Given the description of an element on the screen output the (x, y) to click on. 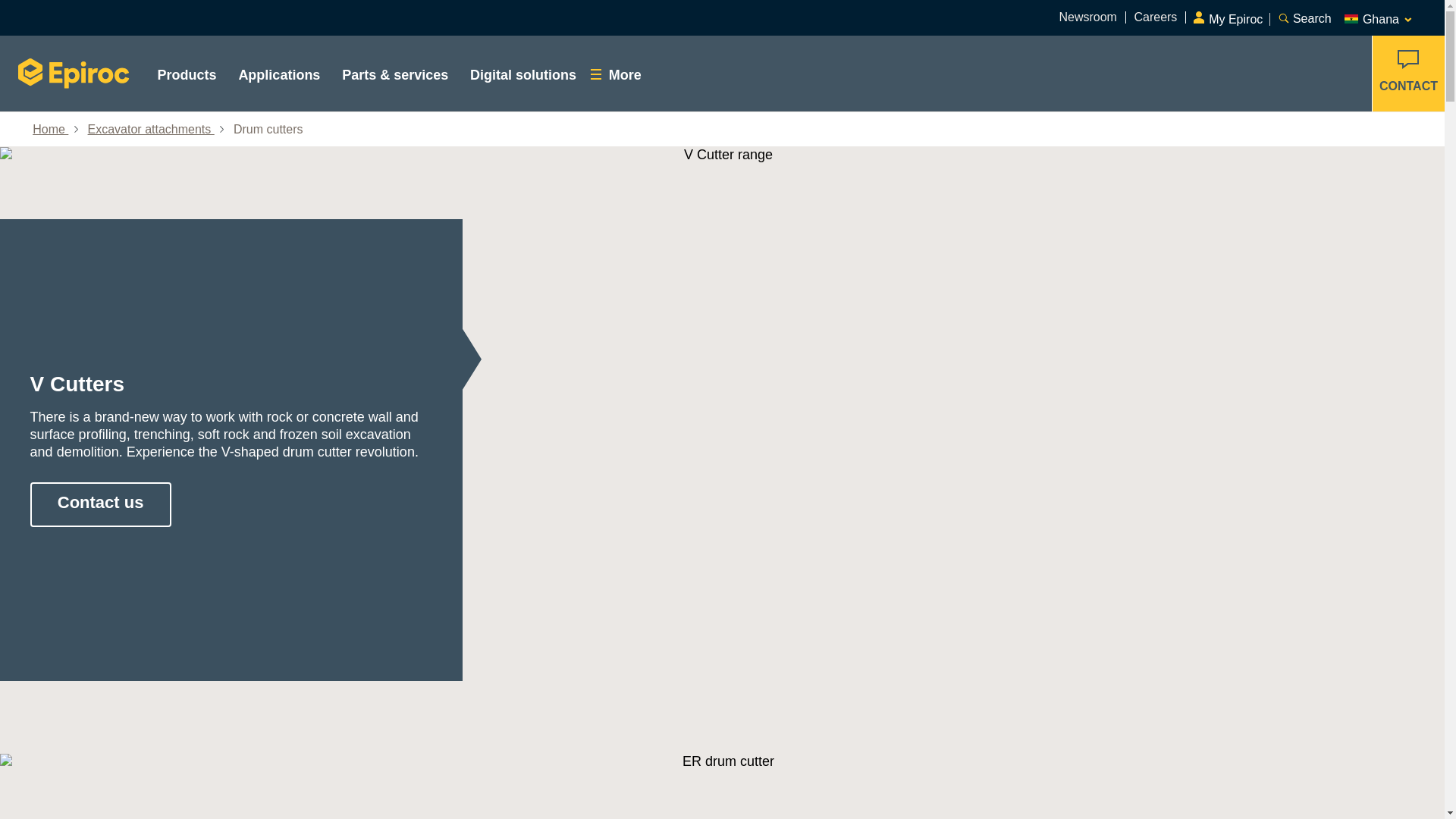
Search (1302, 17)
My Epiroc (1230, 13)
Careers (1154, 17)
Products (186, 73)
Newsroom (1087, 17)
Ghana (1378, 17)
